Given the description of an element on the screen output the (x, y) to click on. 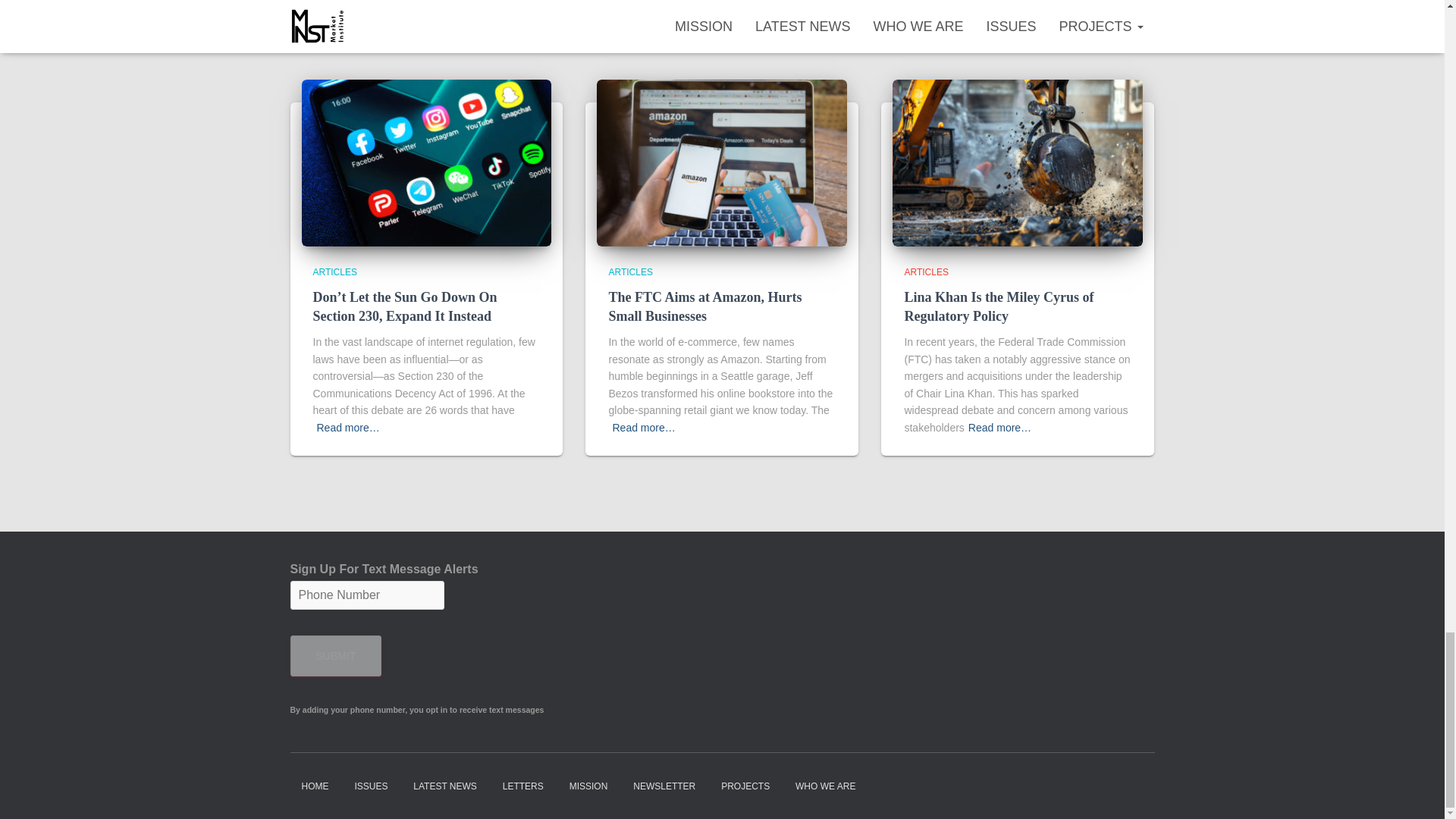
View all posts in Articles (334, 271)
The FTC Aims at Amazon, Hurts Small Businesses (705, 306)
View all posts in Articles (630, 271)
The FTC Aims at Amazon, Hurts Small Businesses (721, 162)
Lina Khan Is the Miley Cyrus of Regulatory Policy (1017, 162)
Lina Khan Is the Miley Cyrus of Regulatory Policy (998, 306)
View all posts in Articles (925, 271)
